Given the description of an element on the screen output the (x, y) to click on. 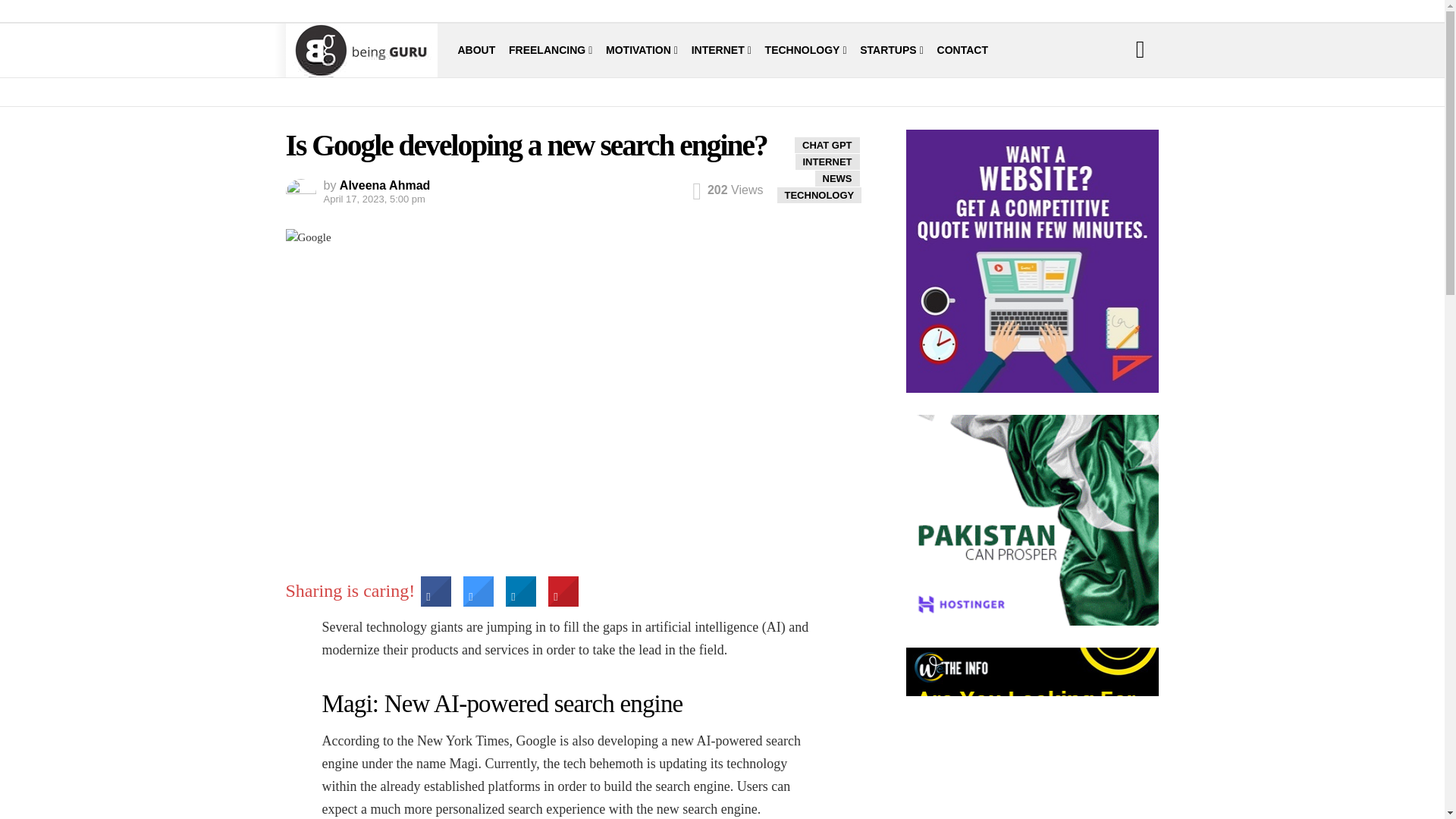
Posts by Alveena Ahmad (384, 185)
TECHNOLOGY (806, 49)
STARTUPS (891, 49)
ABOUT (477, 49)
INTERNET (721, 49)
FREELANCING (550, 49)
MOTIVATION (641, 49)
